Given the description of an element on the screen output the (x, y) to click on. 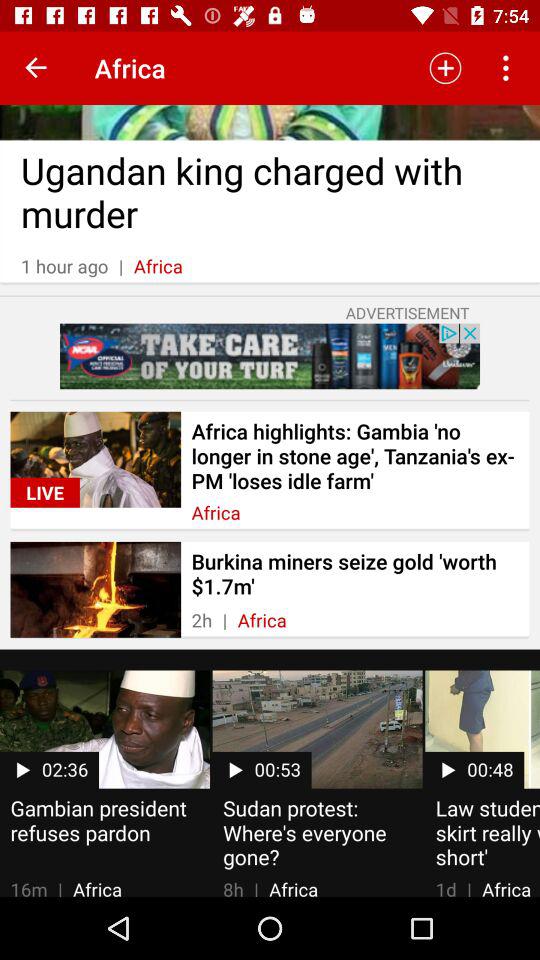
press item below the advertisement item (270, 356)
